Given the description of an element on the screen output the (x, y) to click on. 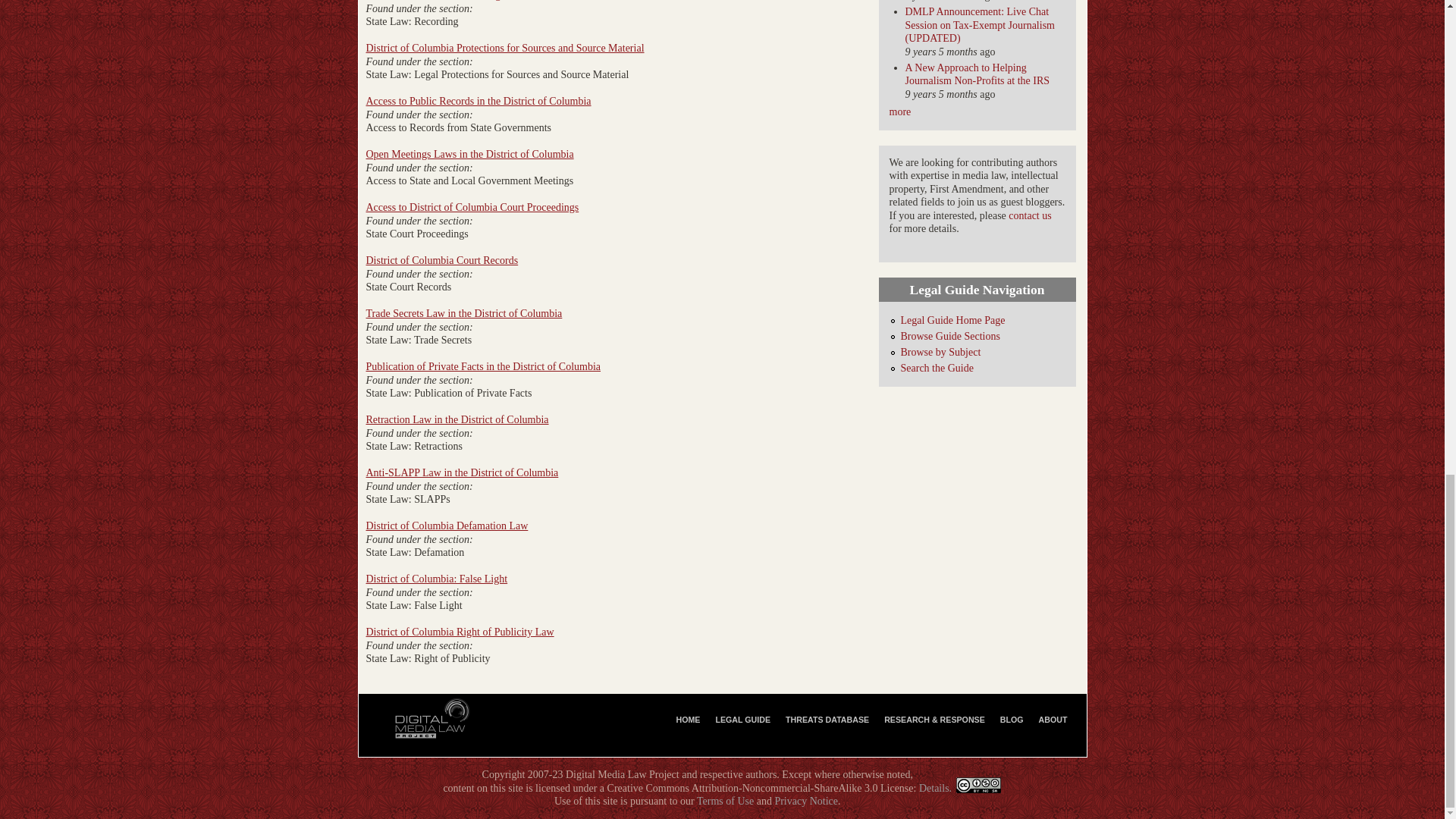
Retraction Law in the District of Columbia (456, 419)
Trade Secrets Law in the District of Columbia (463, 313)
Open Meetings Laws in the District of Columbia (469, 153)
District of Columbia Court Records (441, 260)
Browse the legal guide by subject area (941, 351)
CMLP legal threats database (826, 719)
District of Columbia Defamation Law (446, 525)
Access to Public Records in the District of Columbia (478, 101)
Search the CMLP legal guide (937, 367)
Homepage for the CMLP legal guide (953, 319)
Browse the legal guide by main topic areas (950, 336)
Digital Media Law Project Home Page (687, 719)
Access to District of Columbia Court Proceedings (471, 206)
